Given the description of an element on the screen output the (x, y) to click on. 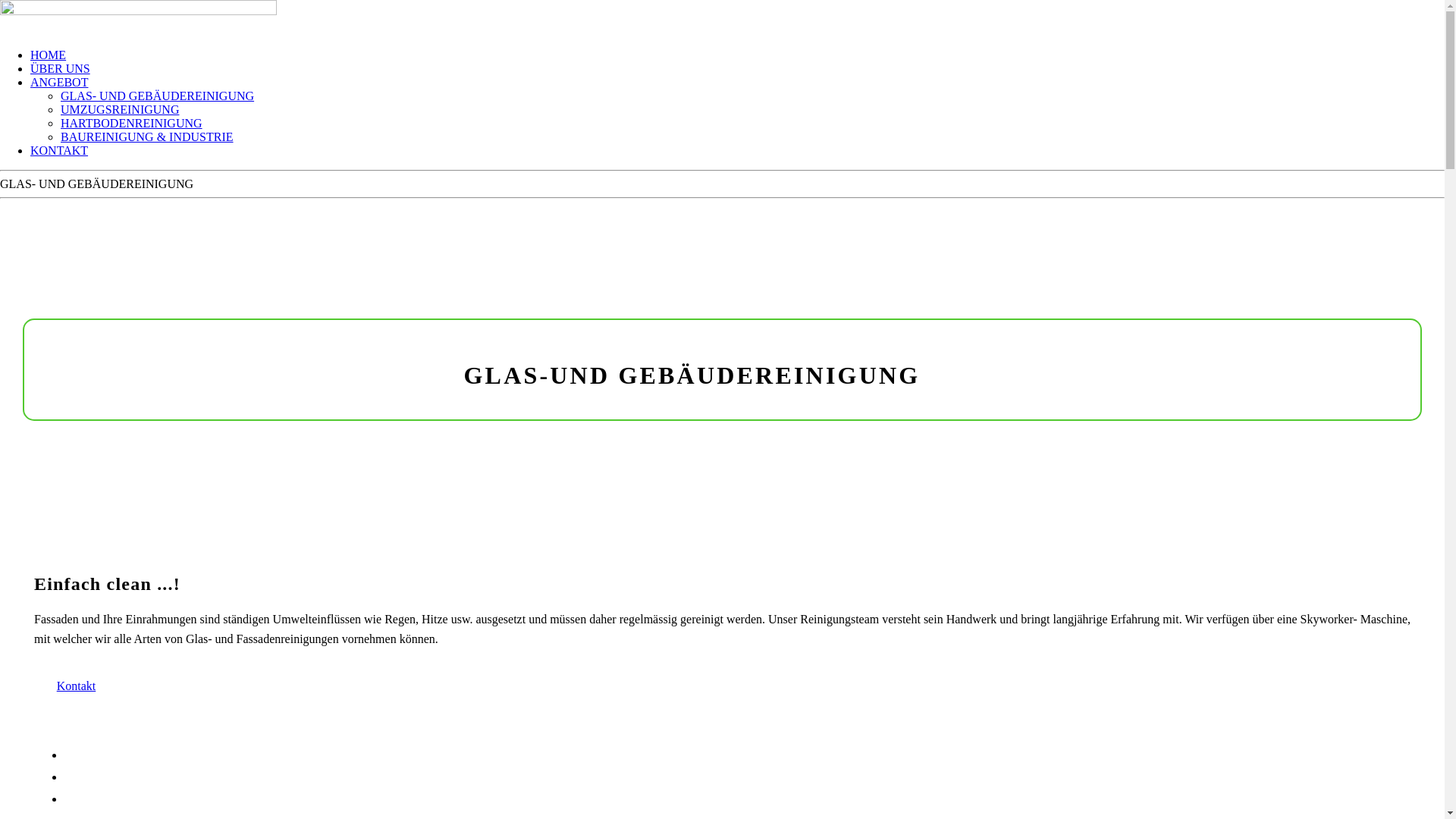
Kontakt Element type: text (76, 696)
UMZUGSREINIGUNG Element type: text (119, 109)
BAUREINIGUNG & INDUSTRIE Element type: text (146, 136)
HARTBODENREINIGUNG Element type: text (131, 122)
KONTAKT Element type: text (58, 150)
HOME Element type: text (47, 54)
ANGEBOT Element type: text (58, 81)
